Given the description of an element on the screen output the (x, y) to click on. 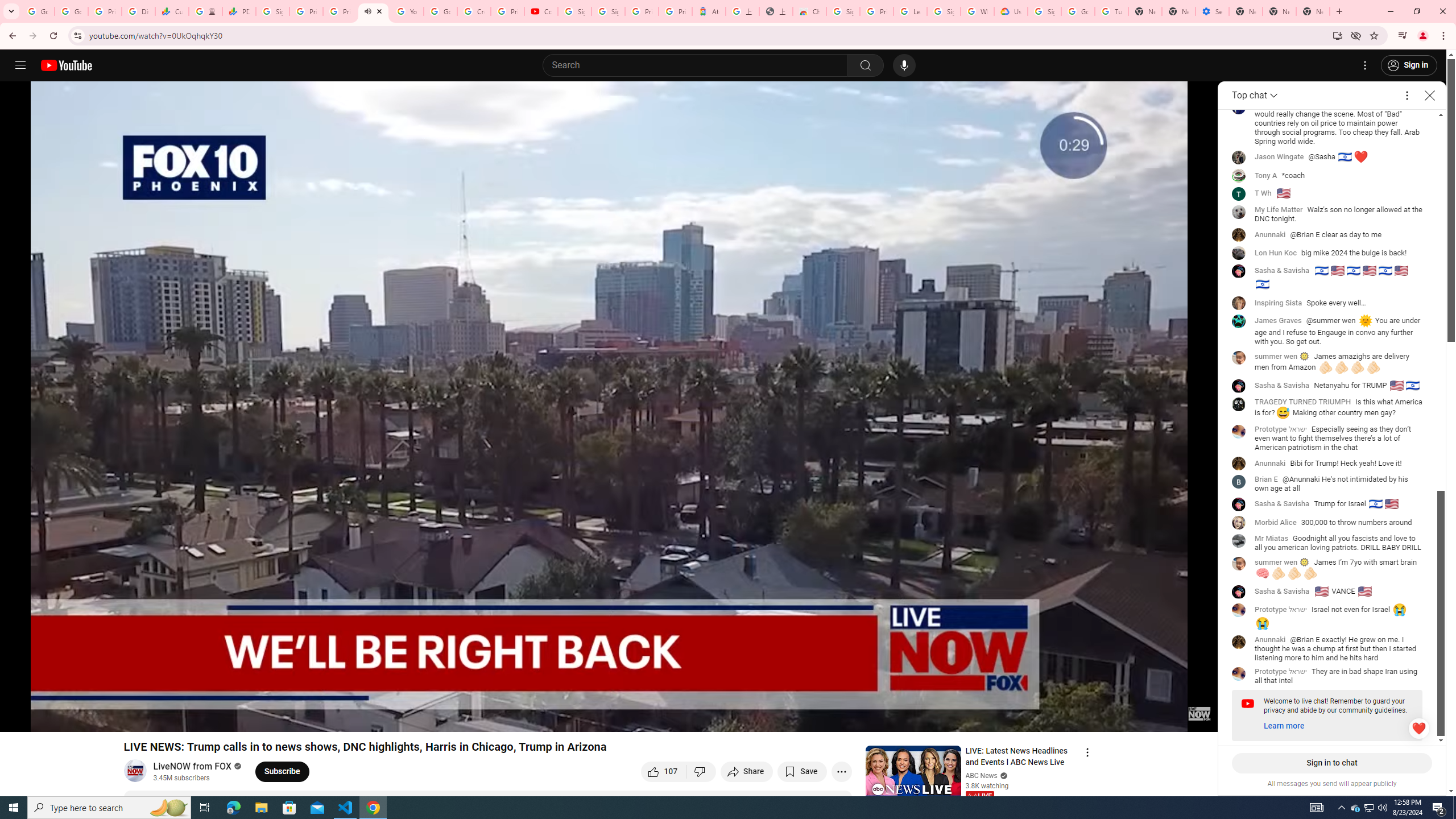
Google Workspace Admin Community (37, 11)
Channel watermark (1199, 713)
PDD Holdings Inc - ADR (PDD) Price & News - Google Finance (238, 11)
Chrome Web Store (809, 11)
Mute (m) (73, 718)
Channel watermark (1199, 713)
